Given the description of an element on the screen output the (x, y) to click on. 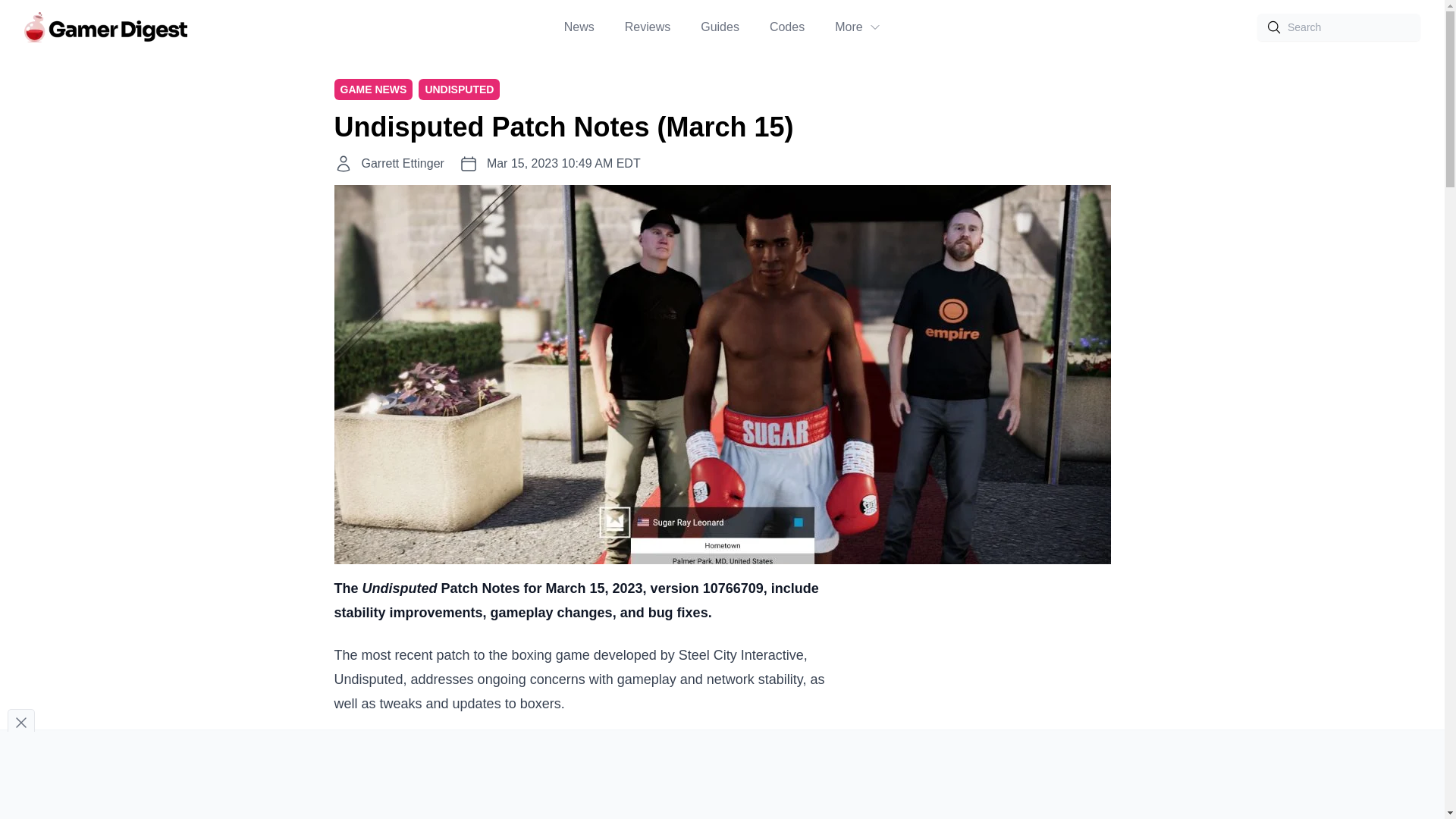
More (857, 27)
Guides (719, 27)
Reviews (646, 27)
Garrett Ettinger (402, 163)
UNDISPUTED (459, 88)
Advertisement (721, 771)
GAME NEWS (372, 88)
Codes (787, 27)
Advertisement (995, 697)
News (579, 27)
